Given the description of an element on the screen output the (x, y) to click on. 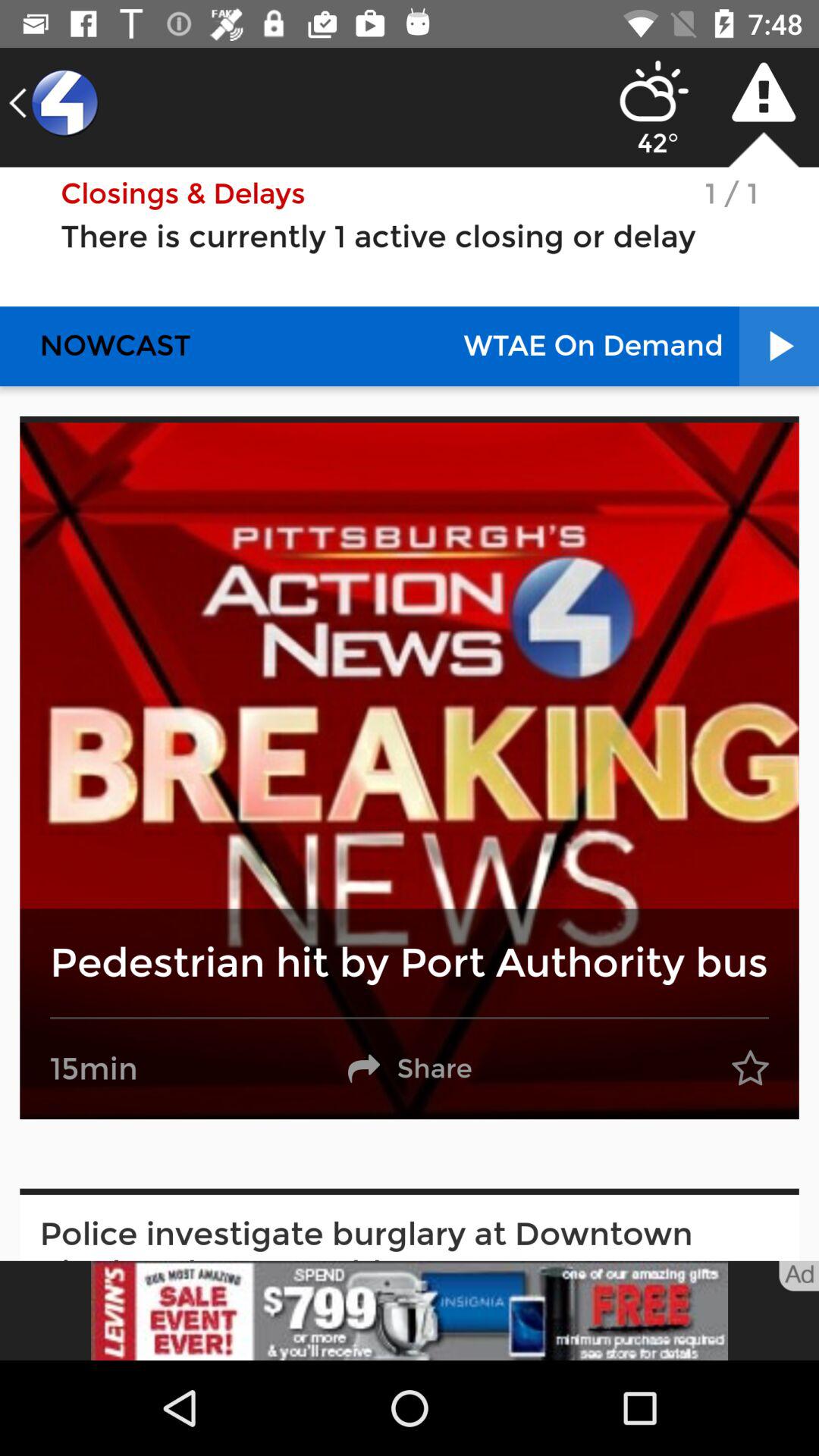
advertisement link (409, 1310)
